Given the description of an element on the screen output the (x, y) to click on. 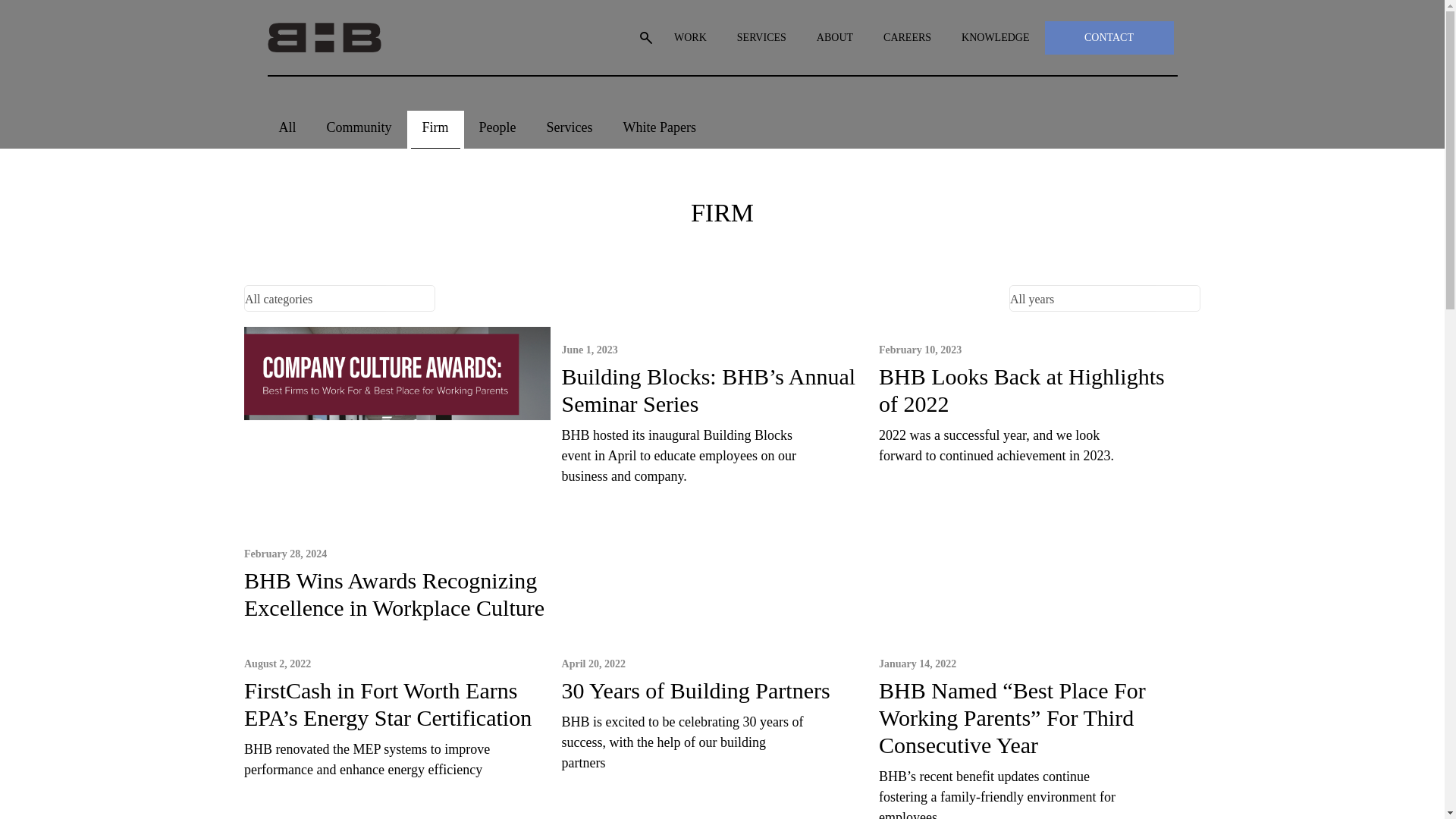
All (286, 129)
Services (569, 129)
SERVICES (761, 37)
People (497, 129)
KNOWLEDGE (995, 37)
Firm (435, 129)
WORK (690, 37)
CAREERS (906, 37)
CONTACT (1109, 37)
White Papers (659, 129)
